Given the description of an element on the screen output the (x, y) to click on. 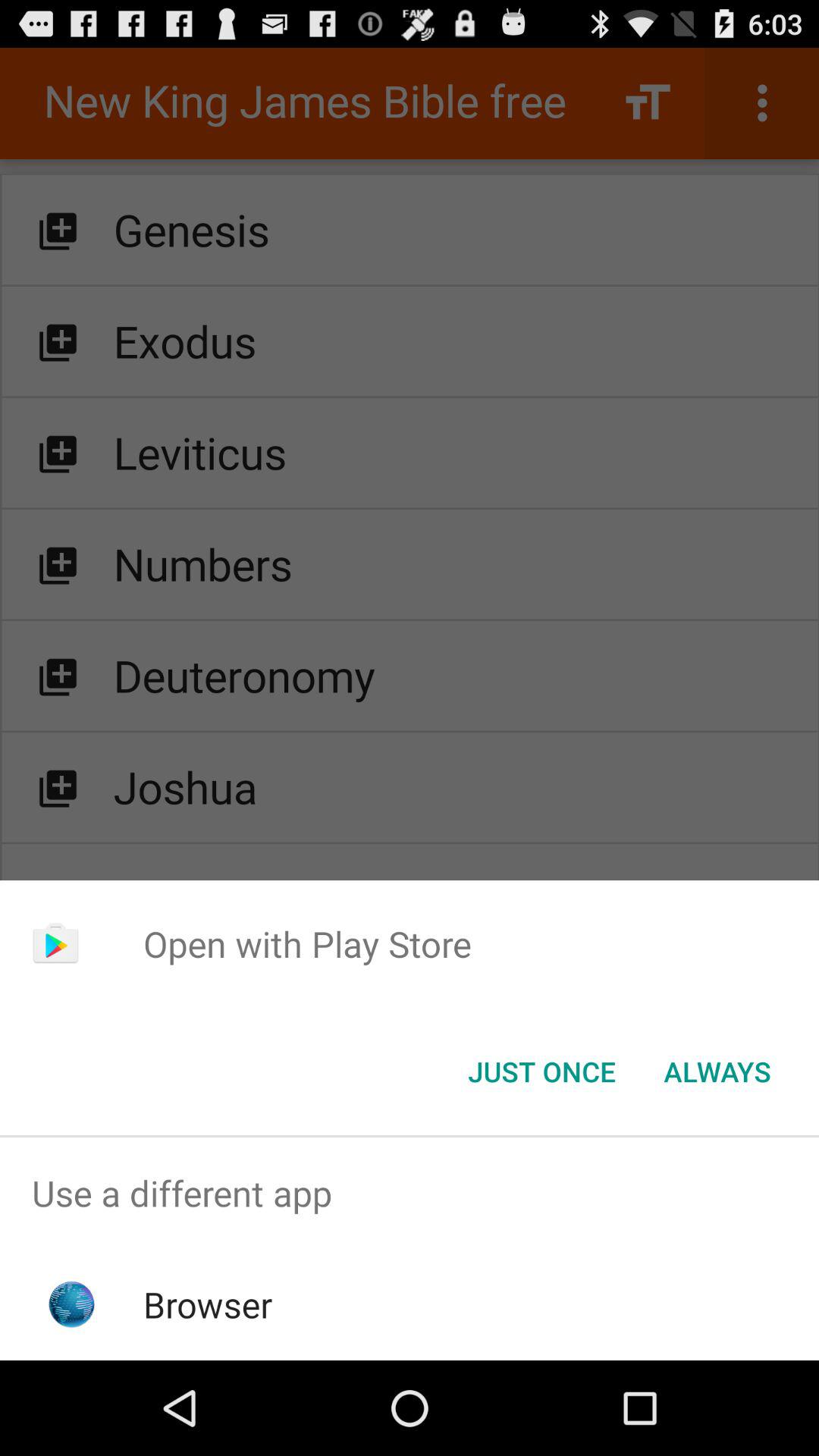
choose icon below open with play app (541, 1071)
